Given the description of an element on the screen output the (x, y) to click on. 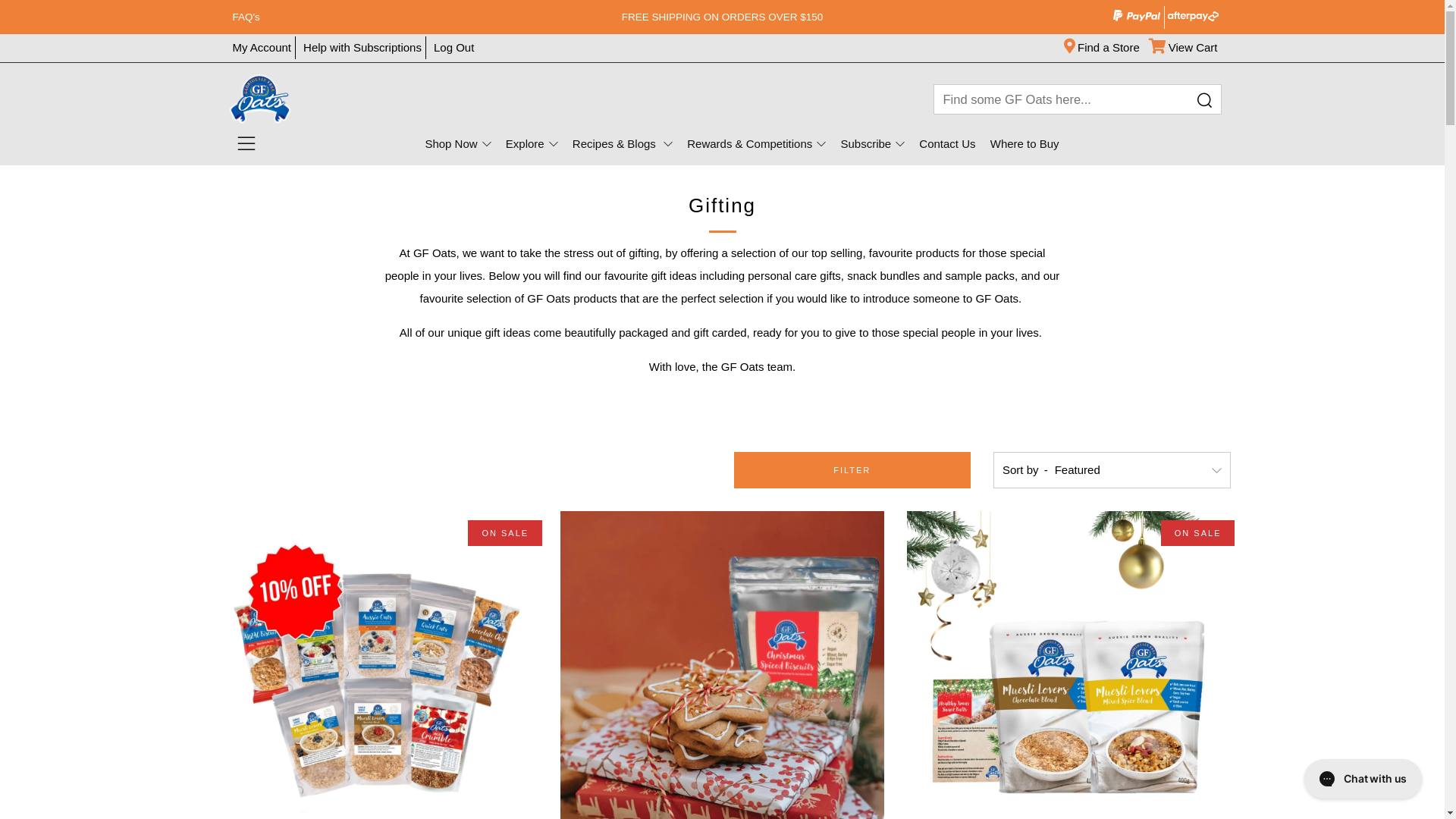
Subscribe Element type: text (872, 143)
Explore Element type: text (531, 143)
Gorgias live chat messenger Element type: hover (1362, 778)
Where to Buy Element type: text (1024, 143)
FREE SHIPPING ON ORDERS OVER $150 Element type: text (721, 17)
Help with Subscriptions Element type: text (362, 46)
Rewards & Competitions Element type: text (756, 143)
Shop Now Element type: text (457, 143)
Recipes & Blogs Element type: text (622, 143)
Contact Us Element type: text (947, 143)
FAQ's Element type: text (383, 17)
View Cart Element type: text (1183, 46)
My Account Element type: text (261, 46)
Log Out Element type: text (453, 46)
Find a Store Element type: text (1102, 46)
FILTER Element type: text (852, 469)
Menu Element type: text (245, 143)
Search Element type: text (1203, 101)
